Given the description of an element on the screen output the (x, y) to click on. 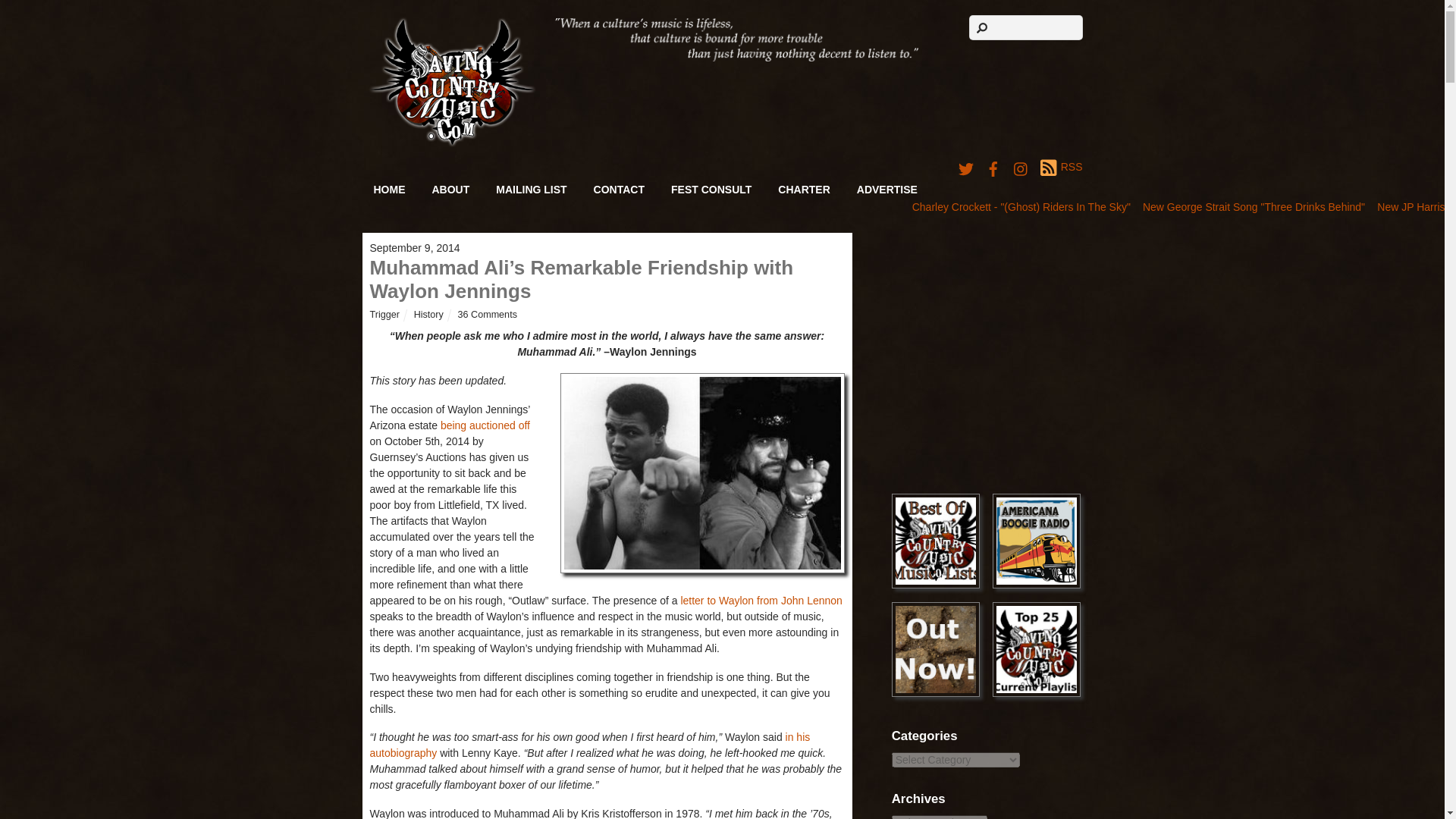
letter to Waylon from John Lennon (761, 600)
History (428, 314)
Search (1026, 27)
FEST CONSULT (710, 190)
CHARTER (804, 190)
Saving Country Music (451, 142)
logo (451, 81)
New George Strait Song "Three Drinks Behind" (1253, 206)
MAILING LIST (531, 190)
RSS (1061, 167)
in his autobiography (589, 745)
New George Strait Song "Three Drinks Behind" (1253, 206)
Trigger (383, 314)
36 Comments (487, 314)
ABOUT (450, 190)
